Given the description of an element on the screen output the (x, y) to click on. 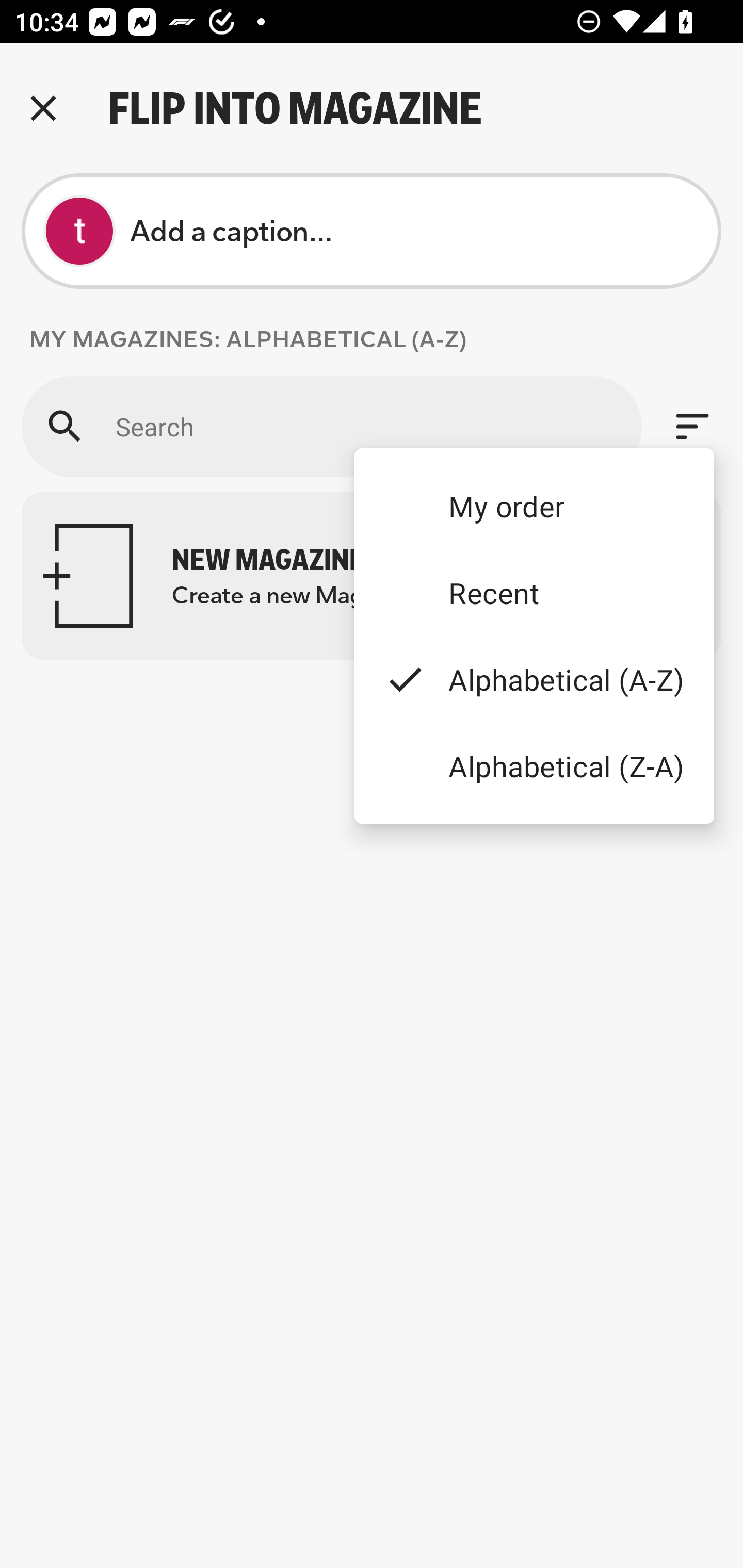
My order (534, 505)
Recent (534, 592)
Alphabetical (A-Z) (534, 679)
Alphabetical (Z-A) (534, 765)
